Given the description of an element on the screen output the (x, y) to click on. 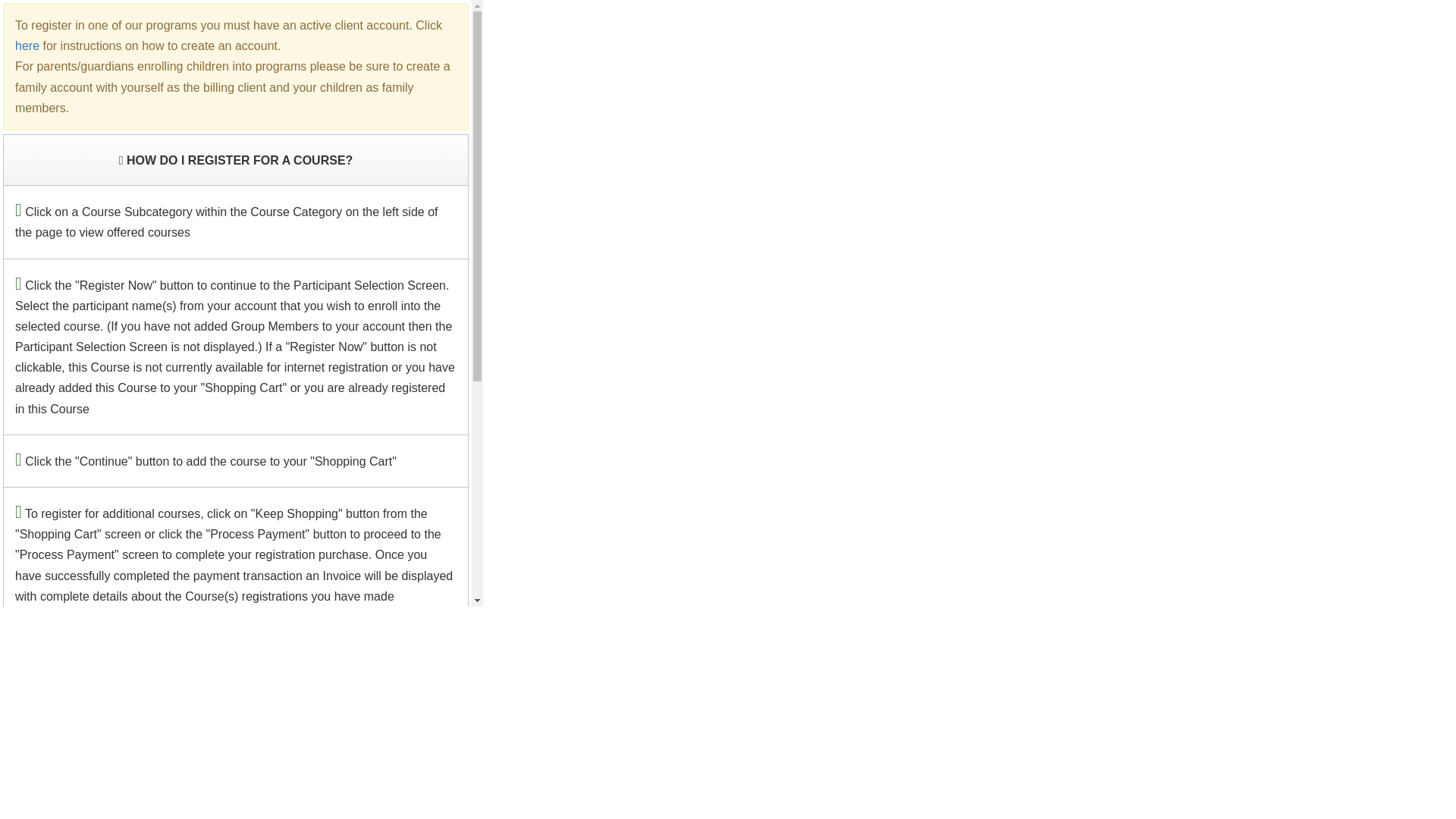
here (26, 45)
Refund Policy (52, 793)
